Given the description of an element on the screen output the (x, y) to click on. 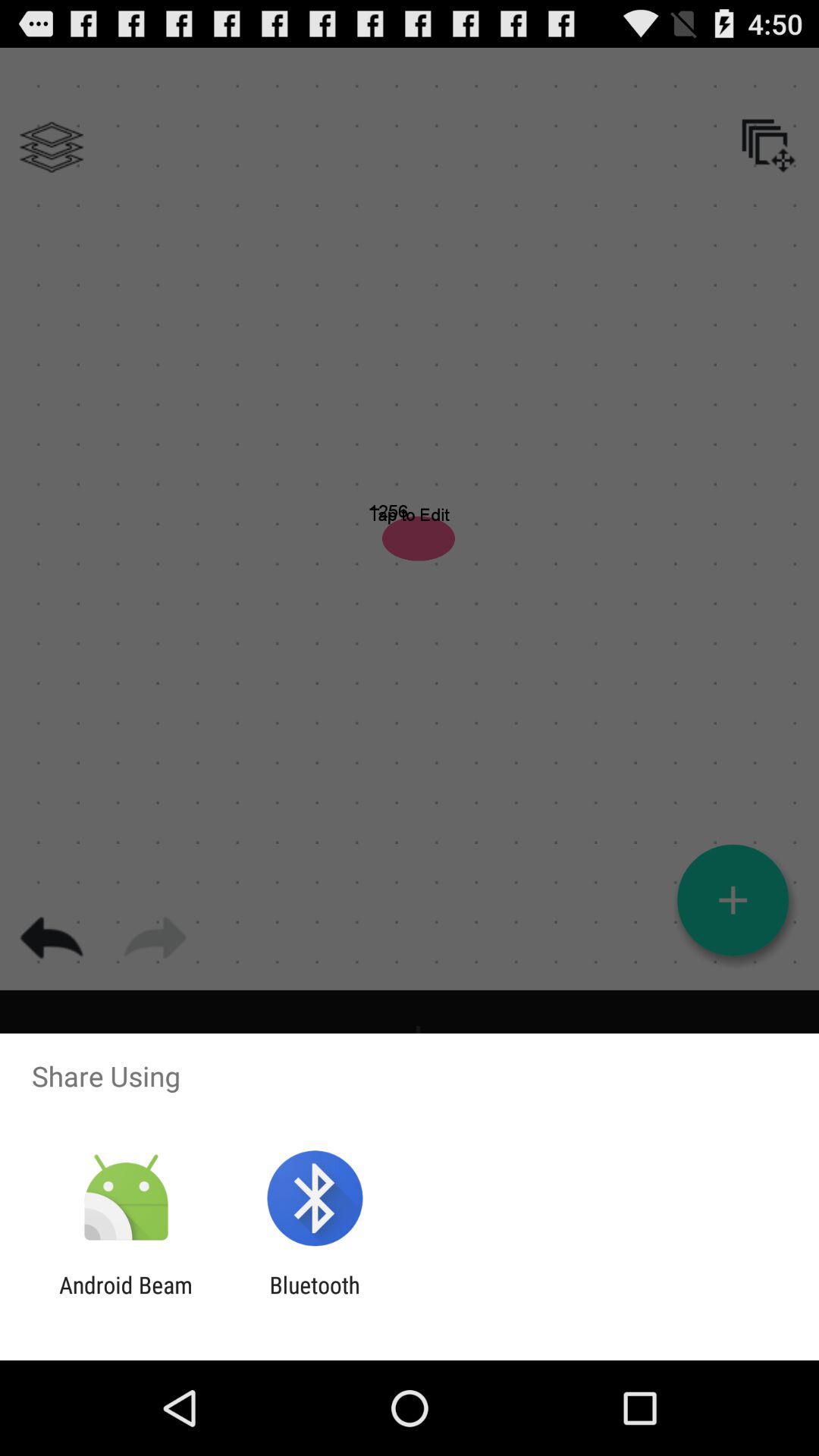
press item next to the android beam icon (314, 1298)
